Given the description of an element on the screen output the (x, y) to click on. 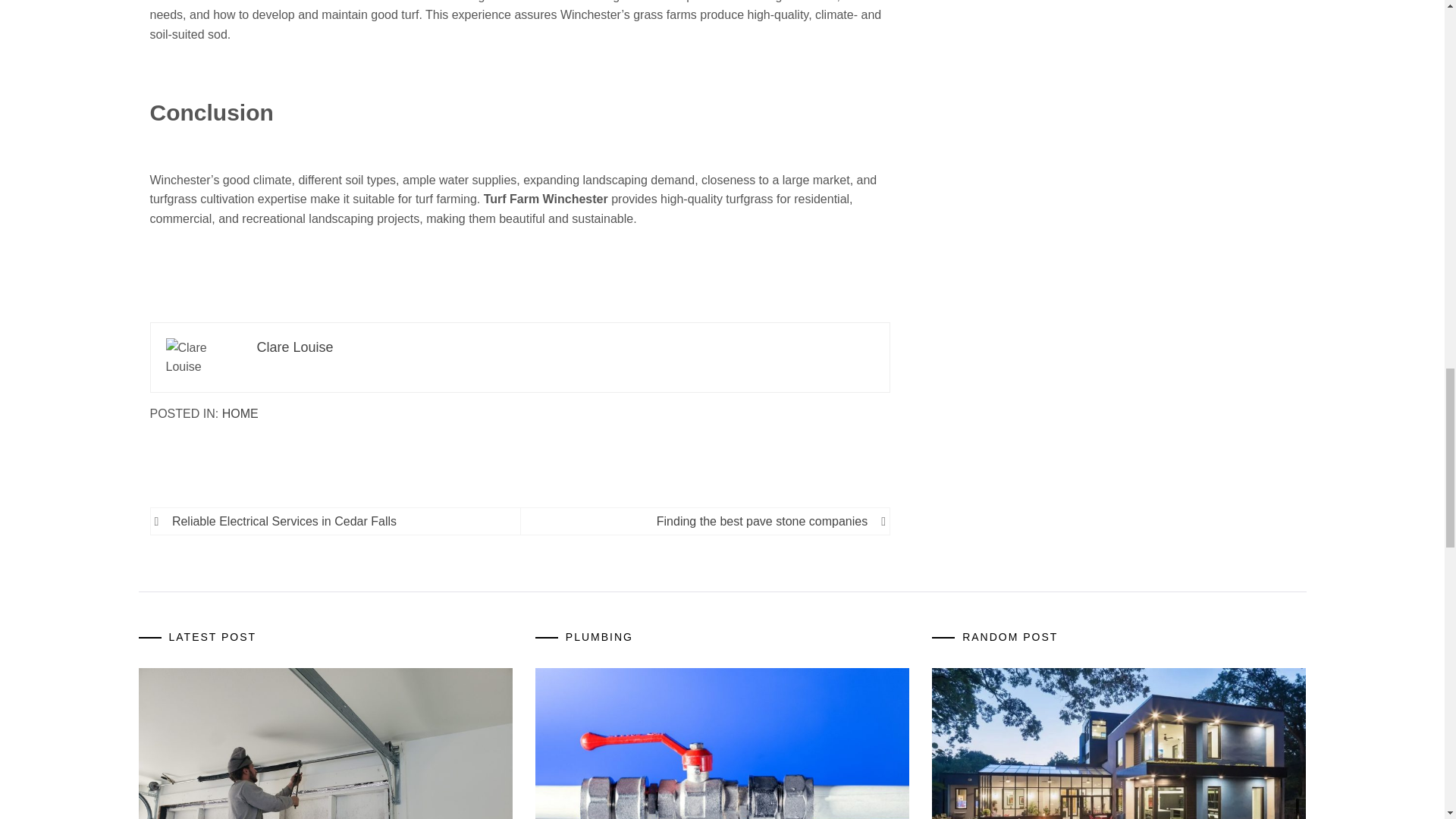
Clare Louise (294, 346)
HOME (240, 413)
turf farm Winchester (233, 1)
Reliable Electrical Services in Cedar Falls (338, 521)
Finding the best pave stone companies (701, 521)
